Given the description of an element on the screen output the (x, y) to click on. 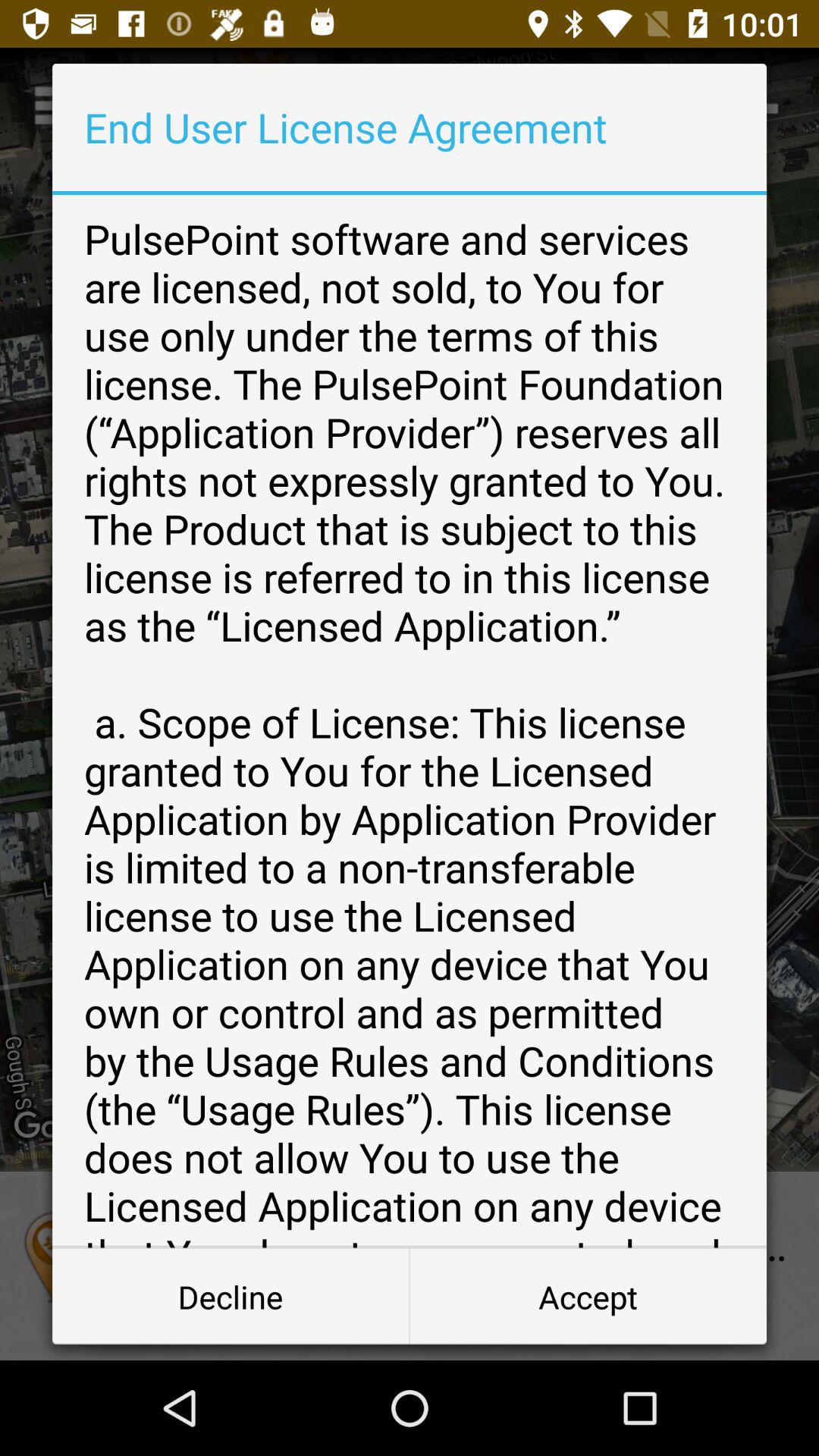
open button next to accept icon (230, 1296)
